Given the description of an element on the screen output the (x, y) to click on. 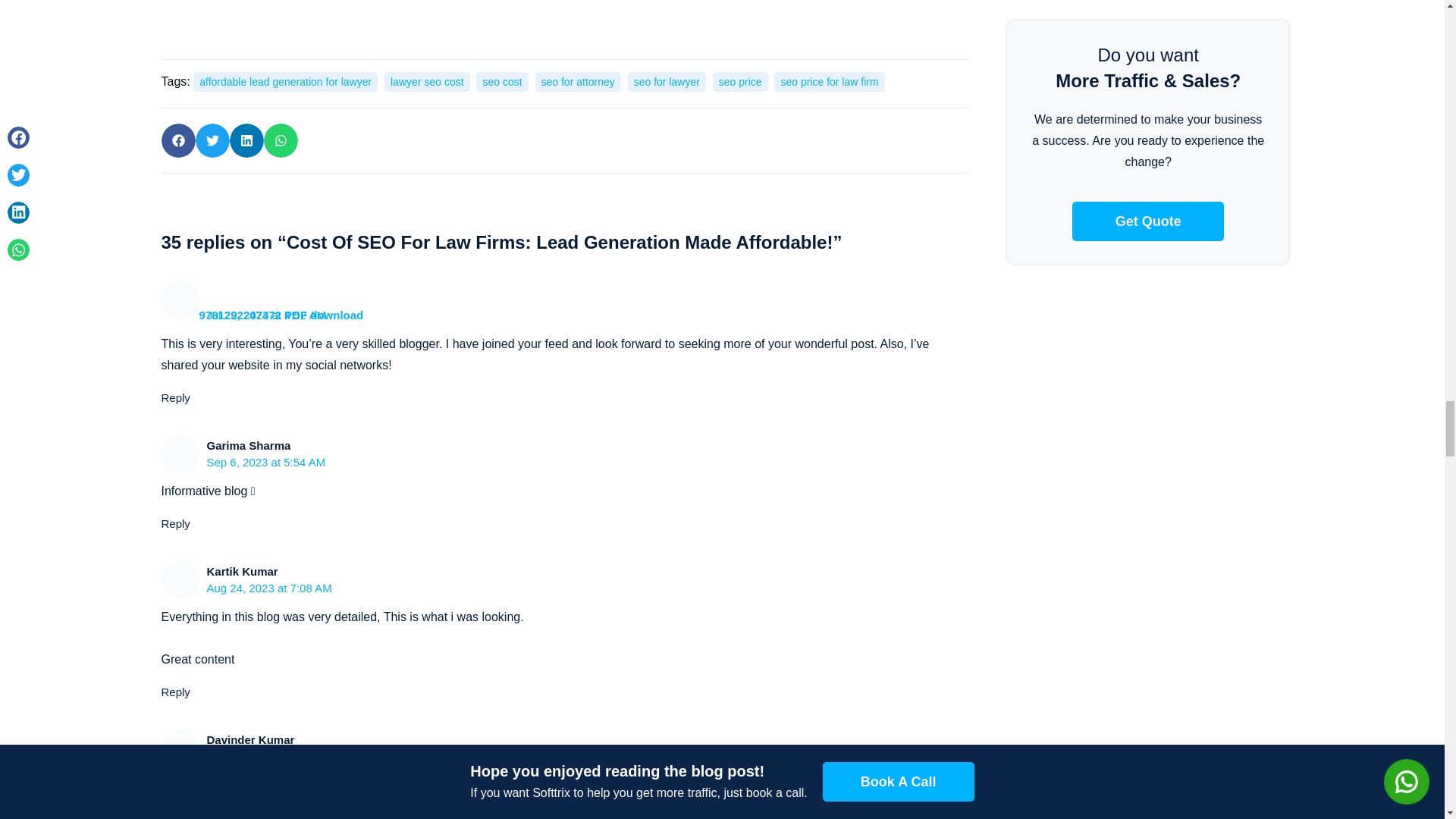
Reply (174, 397)
Reply (174, 522)
Reply (174, 691)
